Given the description of an element on the screen output the (x, y) to click on. 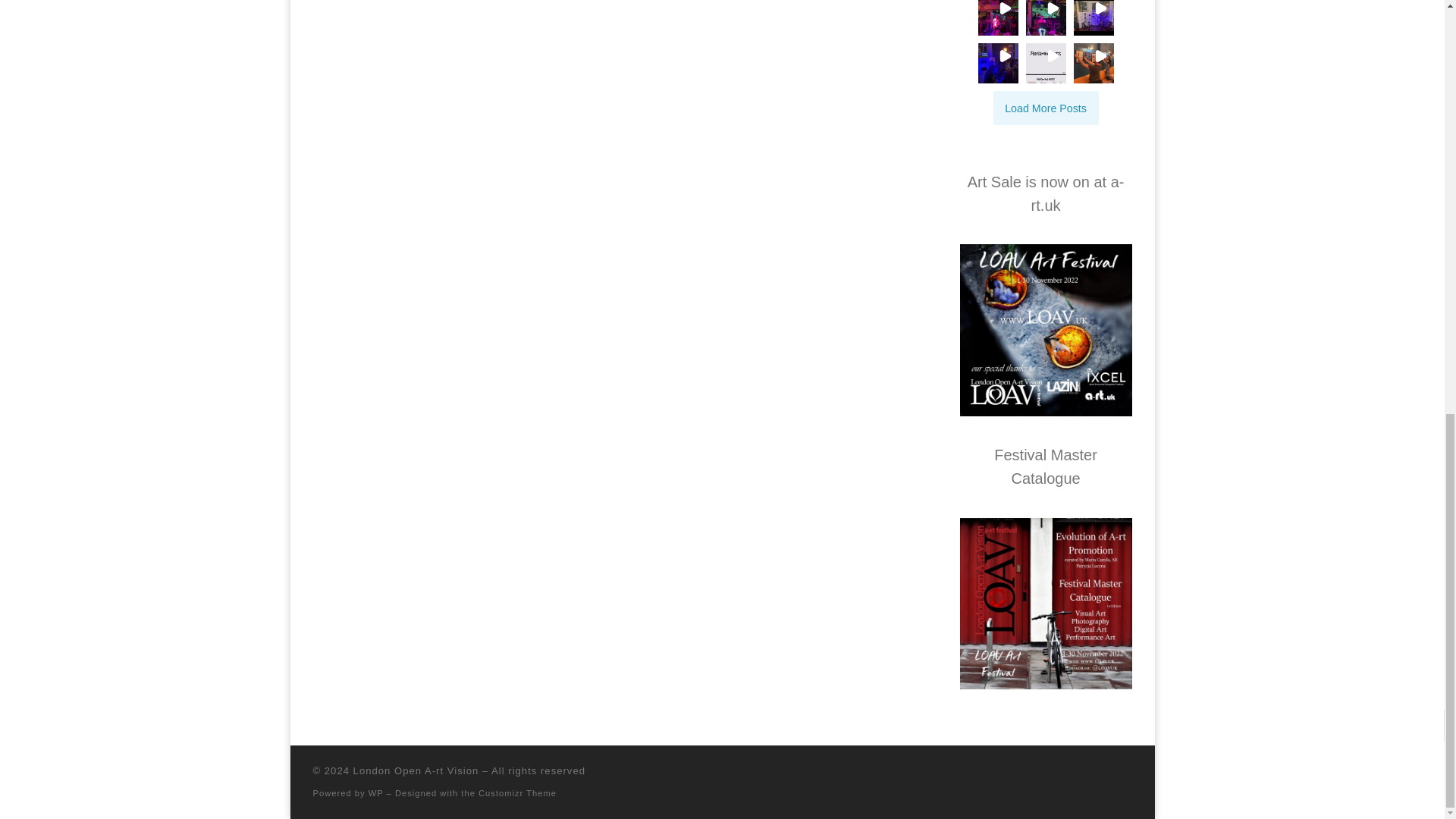
London Open A-rt Vision (416, 770)
Powered by WordPress (376, 792)
Customizr Theme (517, 792)
